Given the description of an element on the screen output the (x, y) to click on. 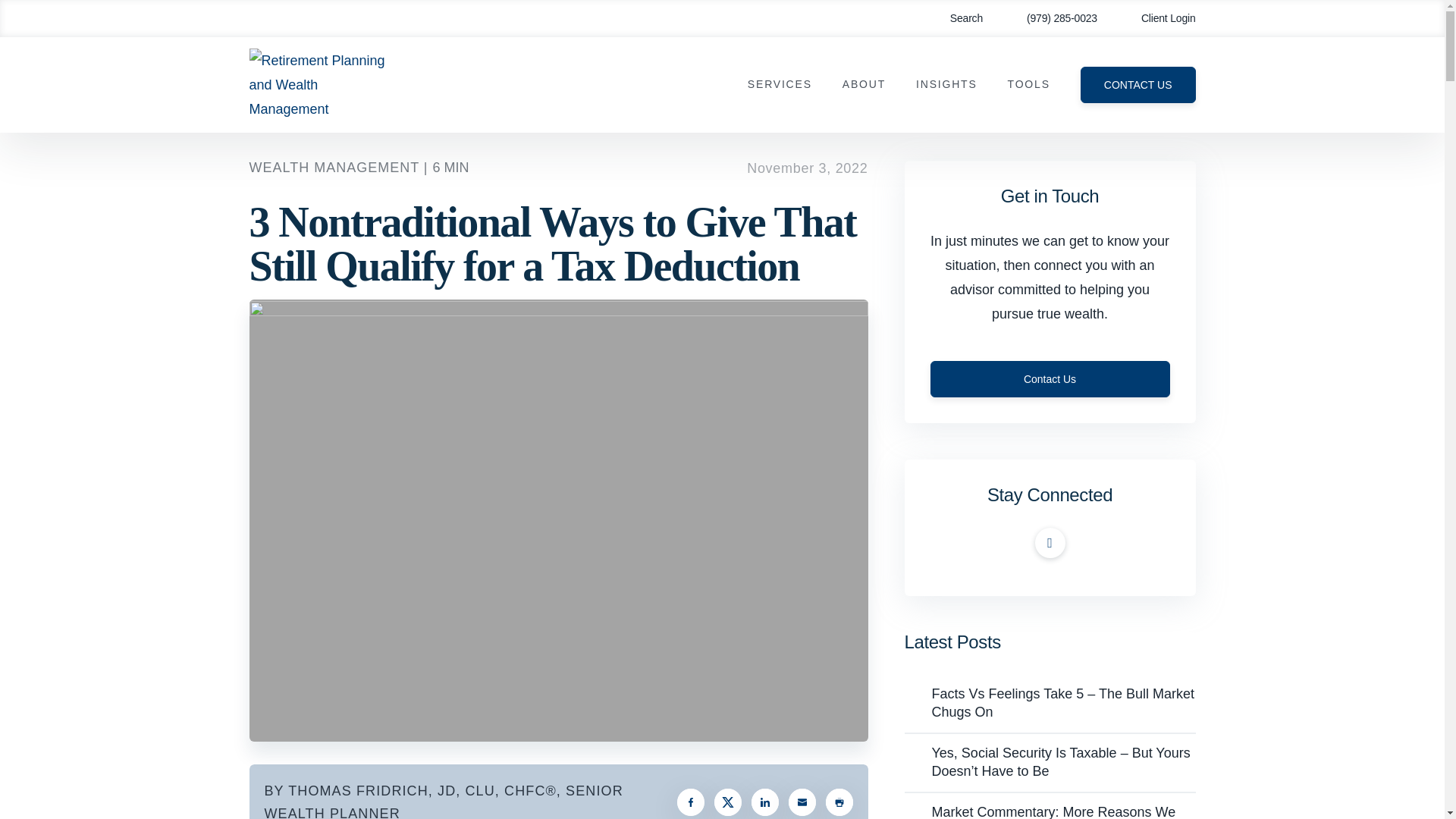
ABOUT (864, 84)
TOOLS (1028, 84)
SERVICES (780, 84)
INSIGHTS (945, 84)
CONTACT US (1137, 84)
Search (955, 18)
Client Login (1157, 18)
